Given the description of an element on the screen output the (x, y) to click on. 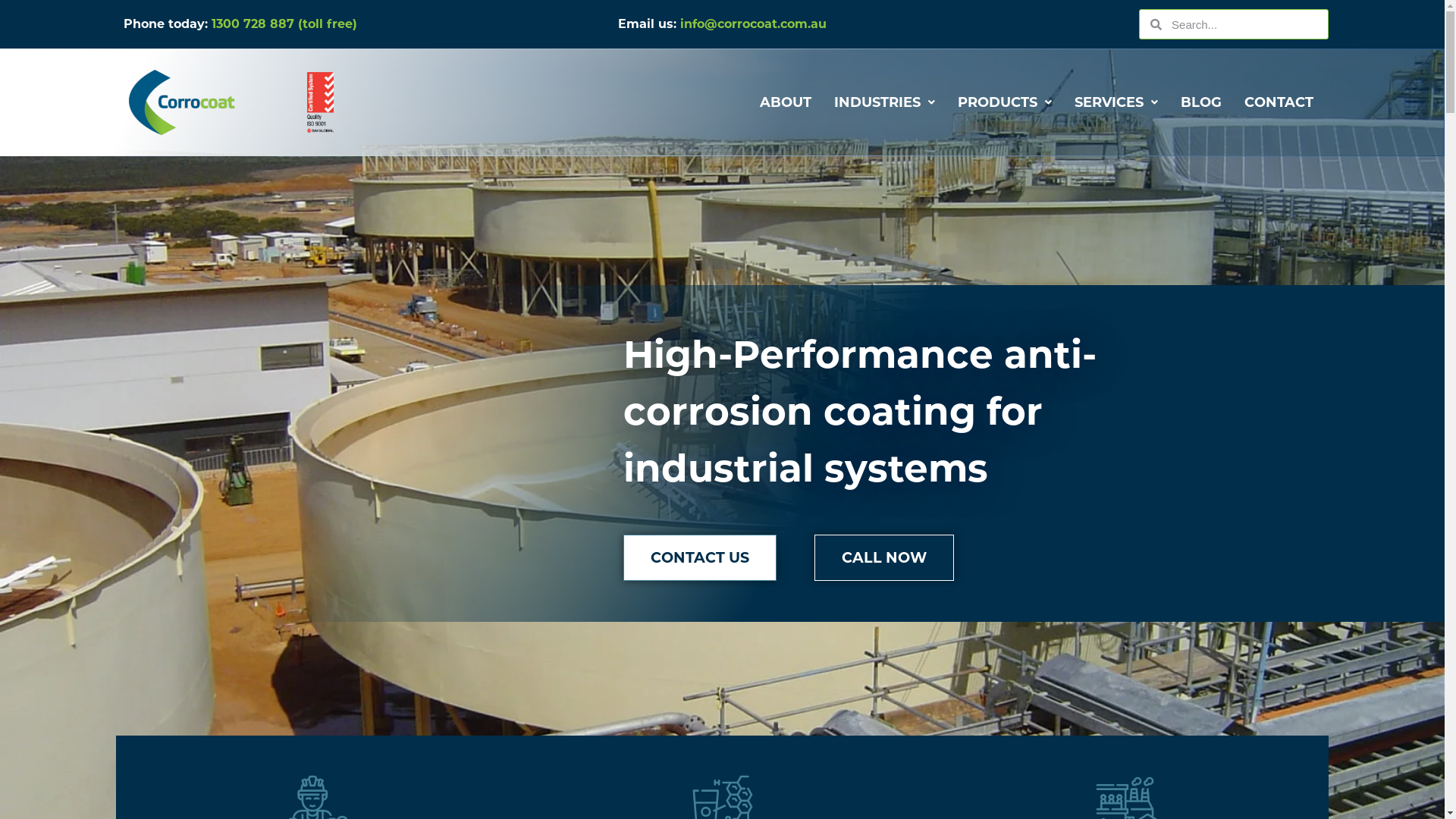
ABOUT Element type: text (785, 102)
1300 728 887 (toll free) Element type: text (283, 23)
SERVICES Element type: text (1116, 102)
info@corrocoat.com.au Element type: text (753, 23)
BLOG Element type: text (1201, 102)
INDUSTRIES Element type: text (884, 102)
CONTACT US Element type: text (699, 557)
CALL NOW Element type: text (883, 557)
CONTACT Element type: text (1278, 102)
PRODUCTS Element type: text (1004, 102)
